Given the description of an element on the screen output the (x, y) to click on. 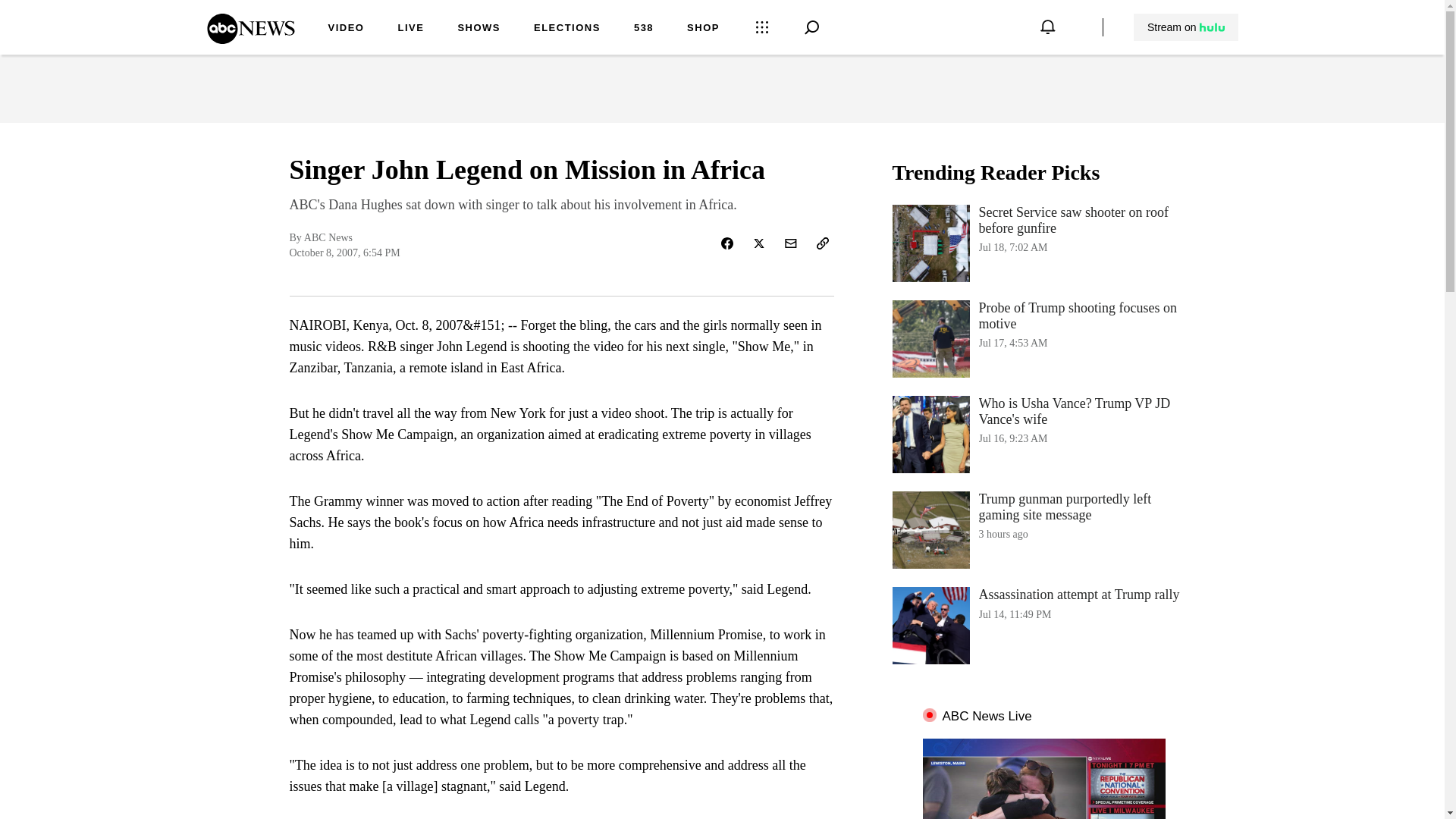
Stream on (1186, 26)
Stream on (1185, 27)
SHOP (703, 28)
538 (1043, 338)
LIVE (1043, 625)
ABC News (643, 28)
VIDEO (410, 28)
ELECTIONS (250, 38)
SHOWS (1043, 434)
